Given the description of an element on the screen output the (x, y) to click on. 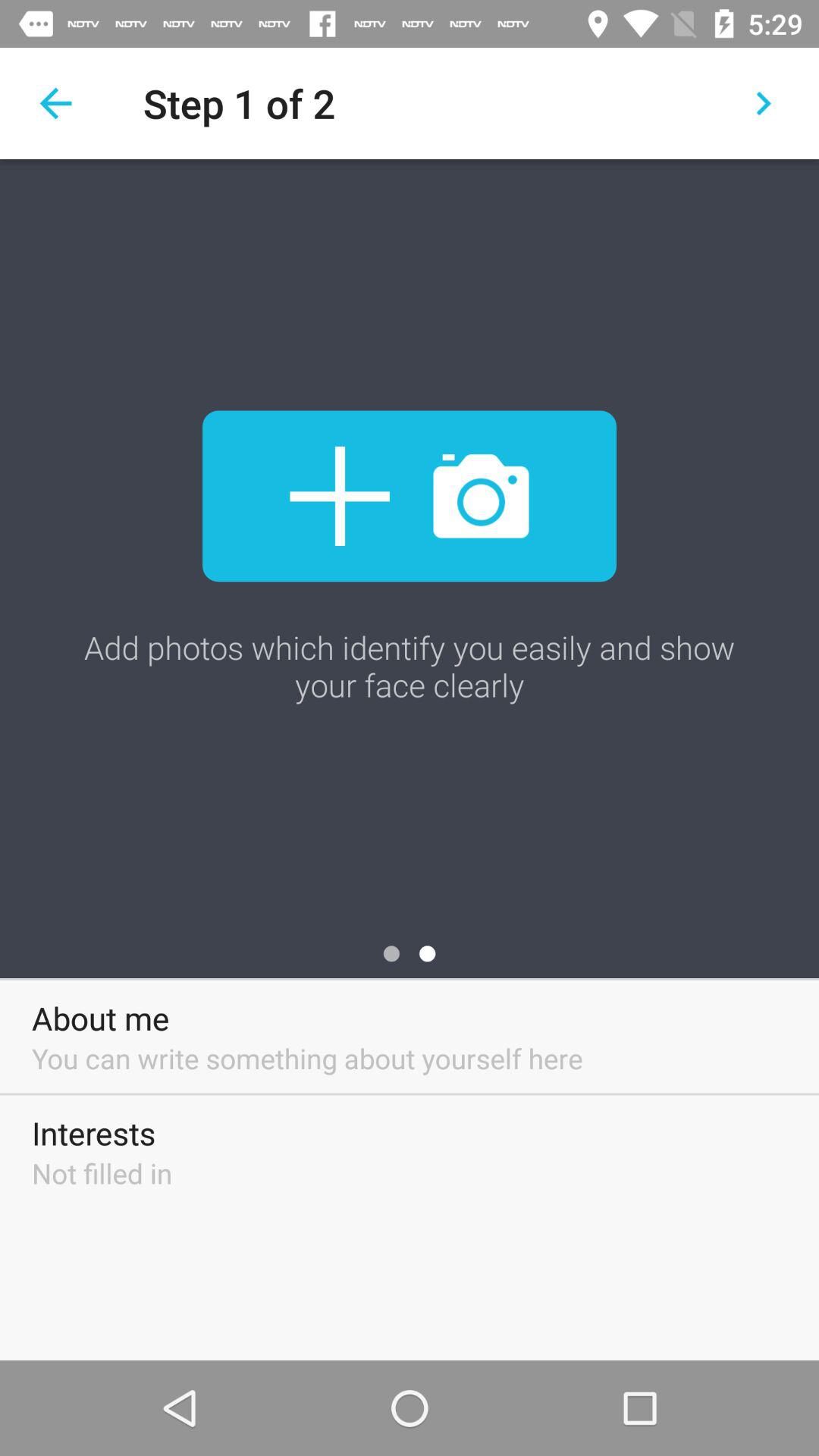
turn off item to the left of the step 1 of icon (55, 103)
